Given the description of an element on the screen output the (x, y) to click on. 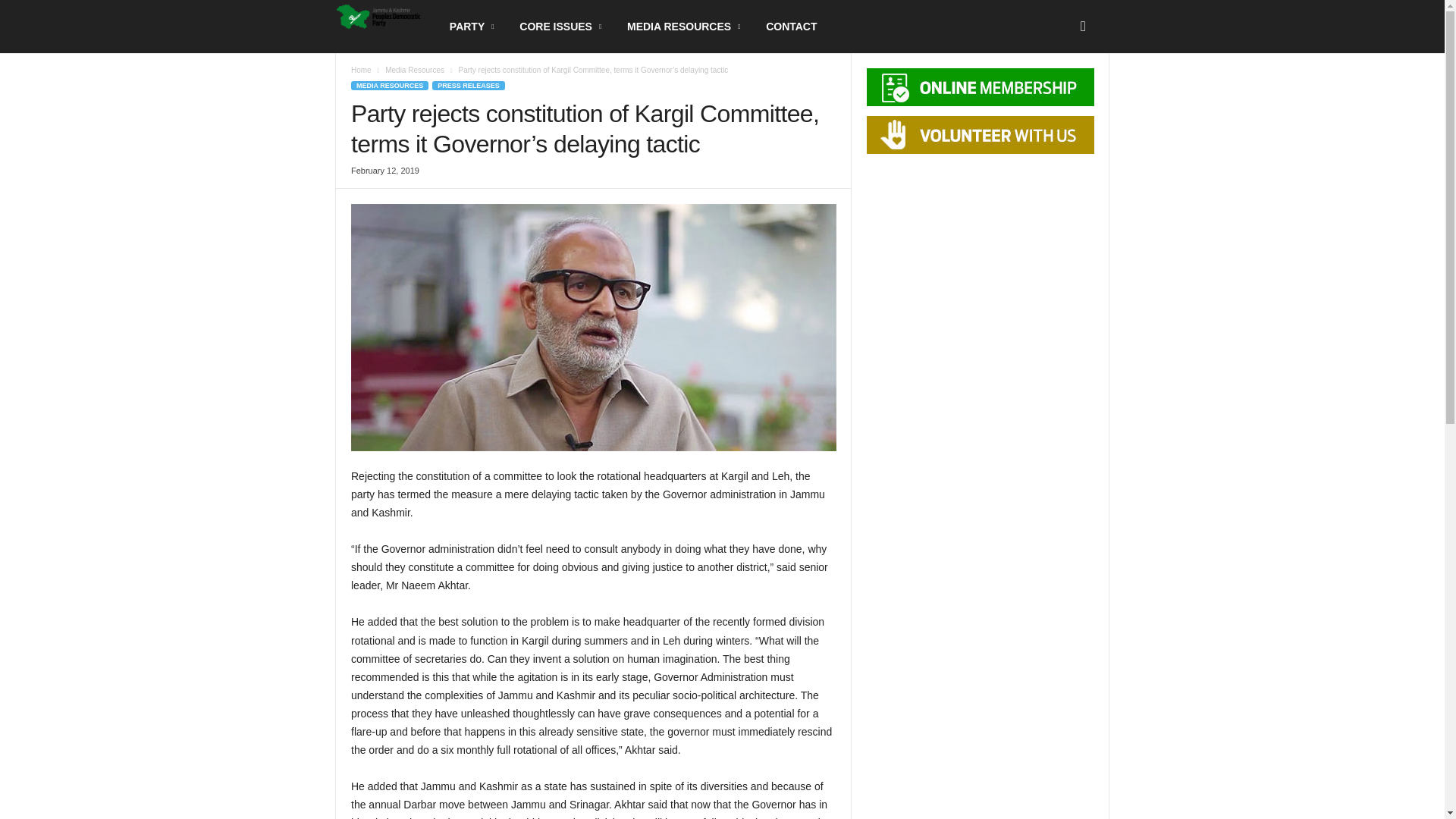
PARTY (473, 26)
Naeem Akhtar (592, 327)
View all posts in Media Resources (414, 70)
